Given the description of an element on the screen output the (x, y) to click on. 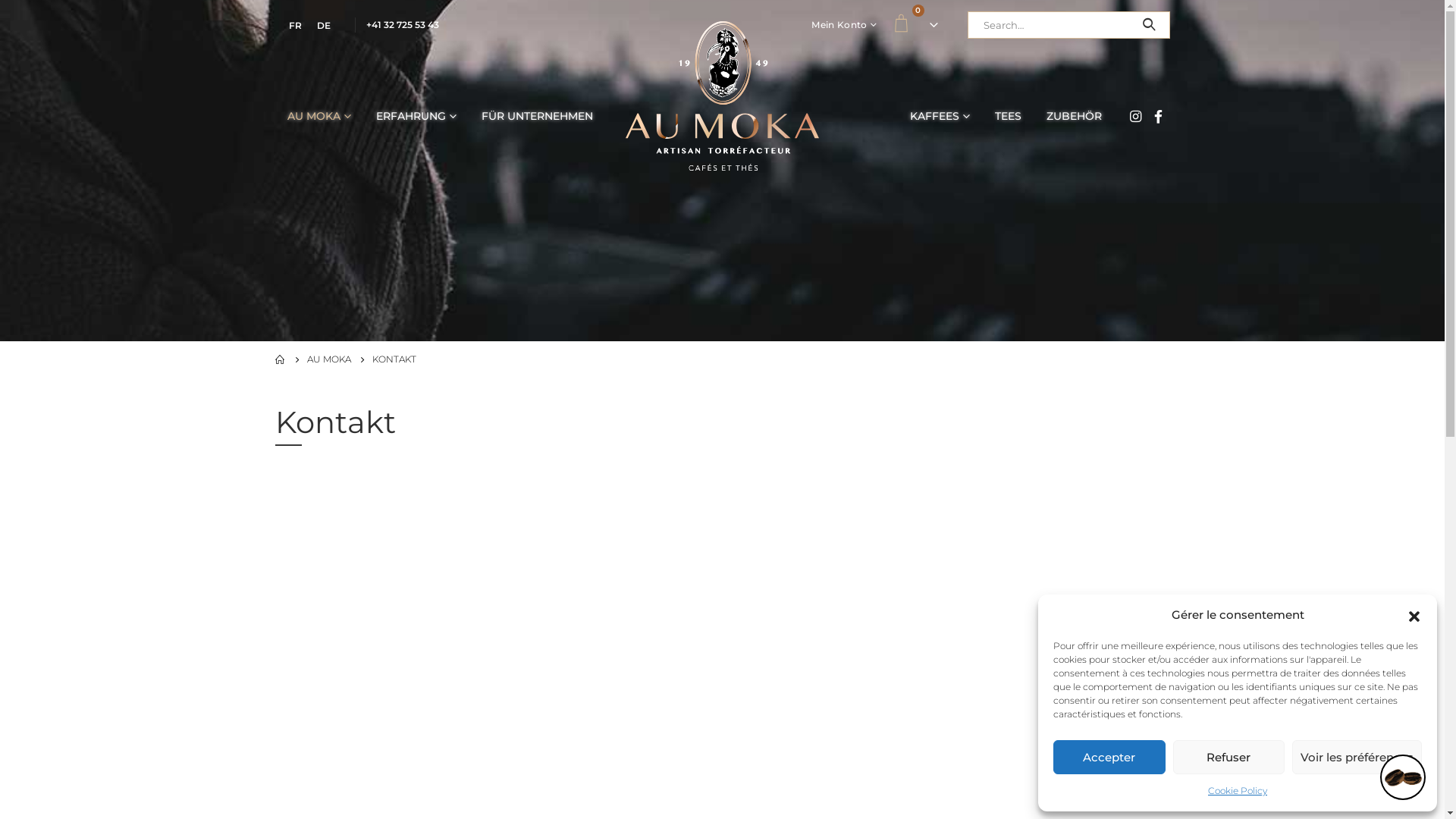
+41 32 725 53 43 Element type: text (401, 24)
FR Element type: text (294, 25)
DE Element type: text (323, 25)
Accepter Element type: text (1109, 757)
Instagram Element type: hover (1135, 115)
Go to Home Page Element type: hover (279, 359)
Cookie Policy Element type: text (1237, 790)
TEES Element type: text (1007, 115)
AU MOKA Element type: text (328, 359)
Facebook Element type: hover (1158, 115)
Search Element type: hover (1149, 24)
AU MOKA Element type: text (318, 115)
Mein Konto Element type: text (843, 25)
ERFAHRUNG Element type: text (416, 115)
Refuser Element type: text (1228, 757)
KAFFEES Element type: text (939, 115)
